Given the description of an element on the screen output the (x, y) to click on. 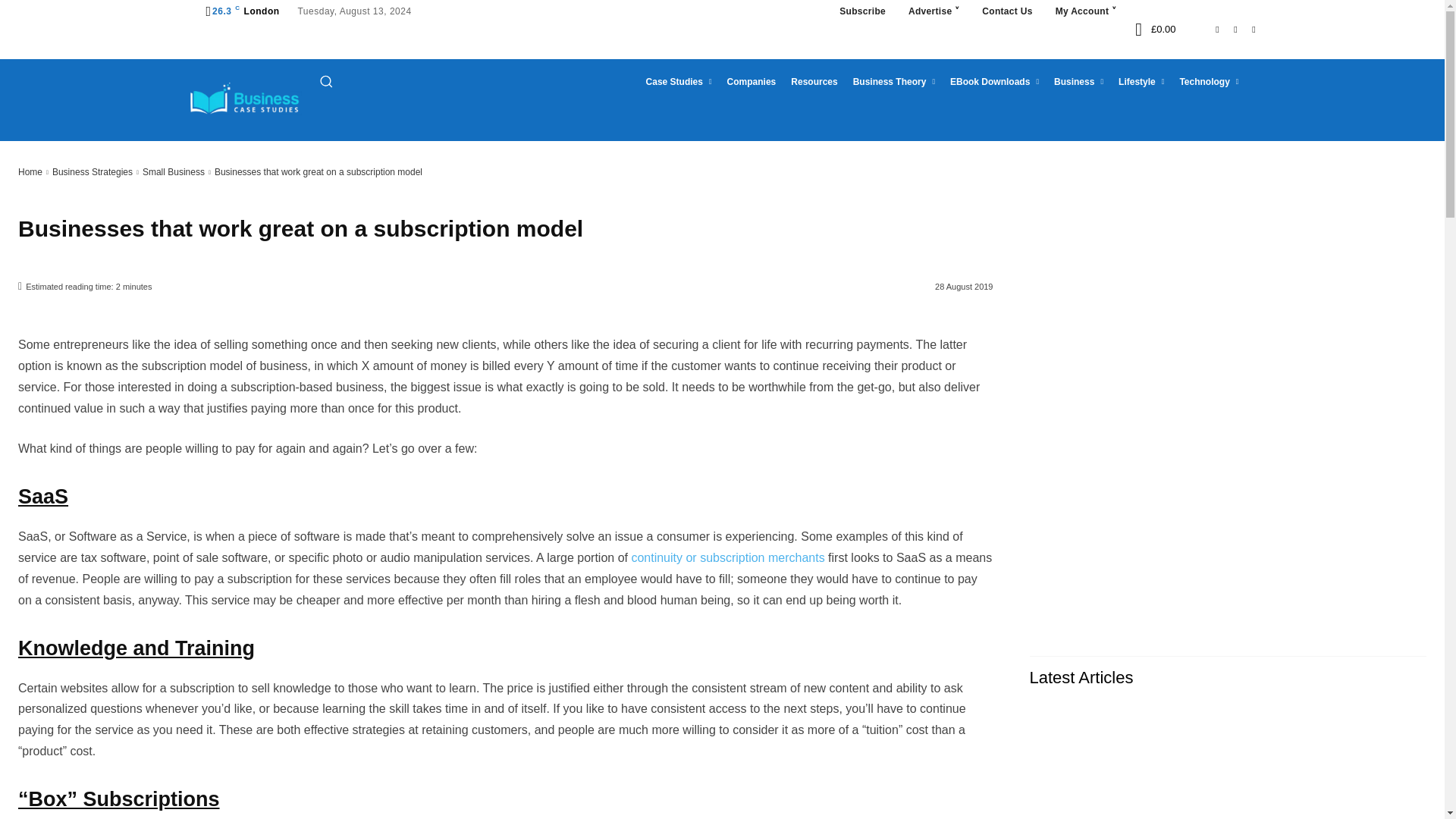
Facebook (1206, 29)
View all posts in Business Strategies (92, 172)
Twitter (1243, 29)
View all posts in Small Business (173, 172)
RSS (1224, 29)
